Given the description of an element on the screen output the (x, y) to click on. 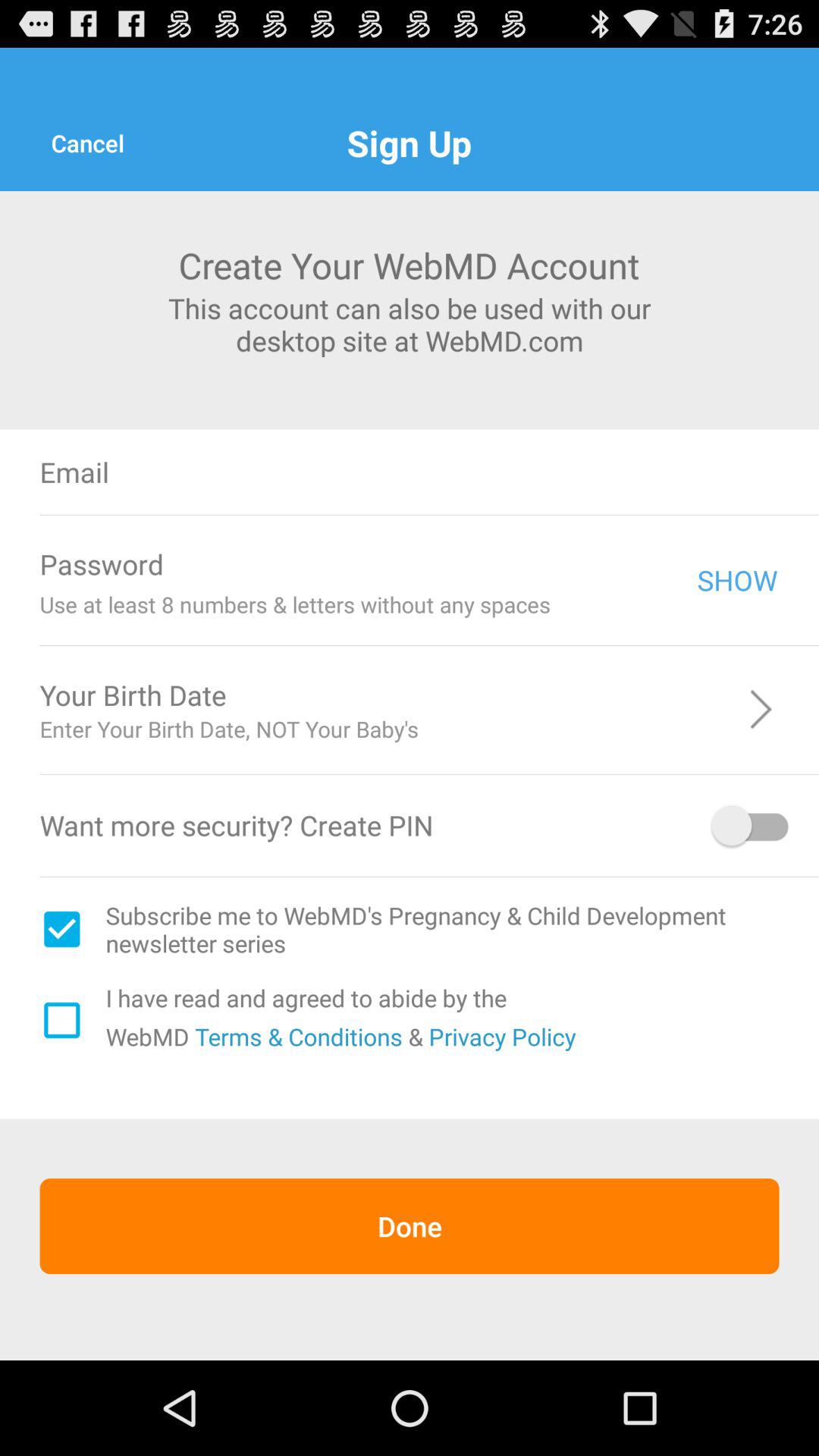
press item next to your birth date item (528, 694)
